Given the description of an element on the screen output the (x, y) to click on. 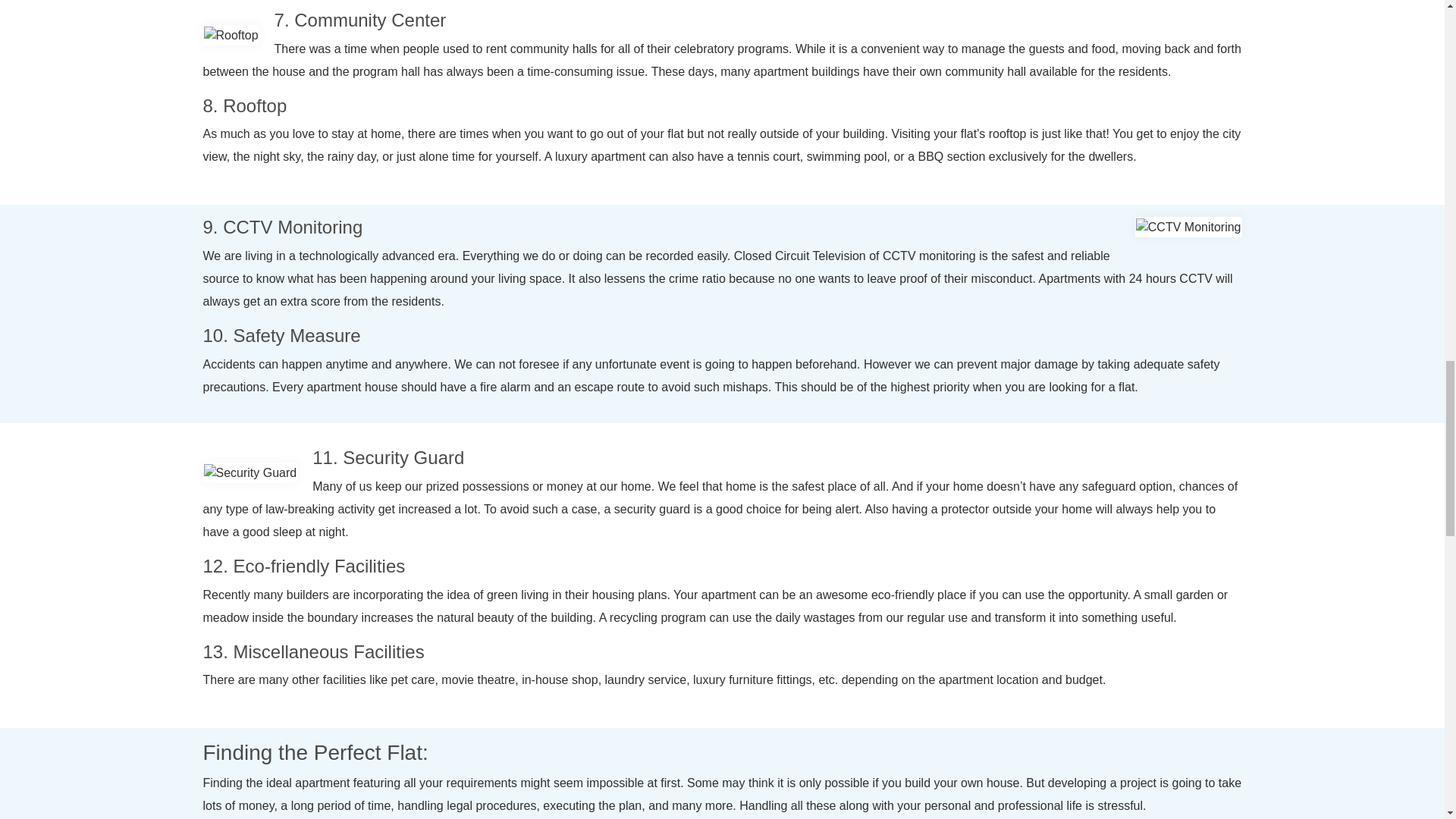
Rooftop (230, 35)
CCTV Monitoring (1188, 227)
Security Guard (250, 473)
